Given the description of an element on the screen output the (x, y) to click on. 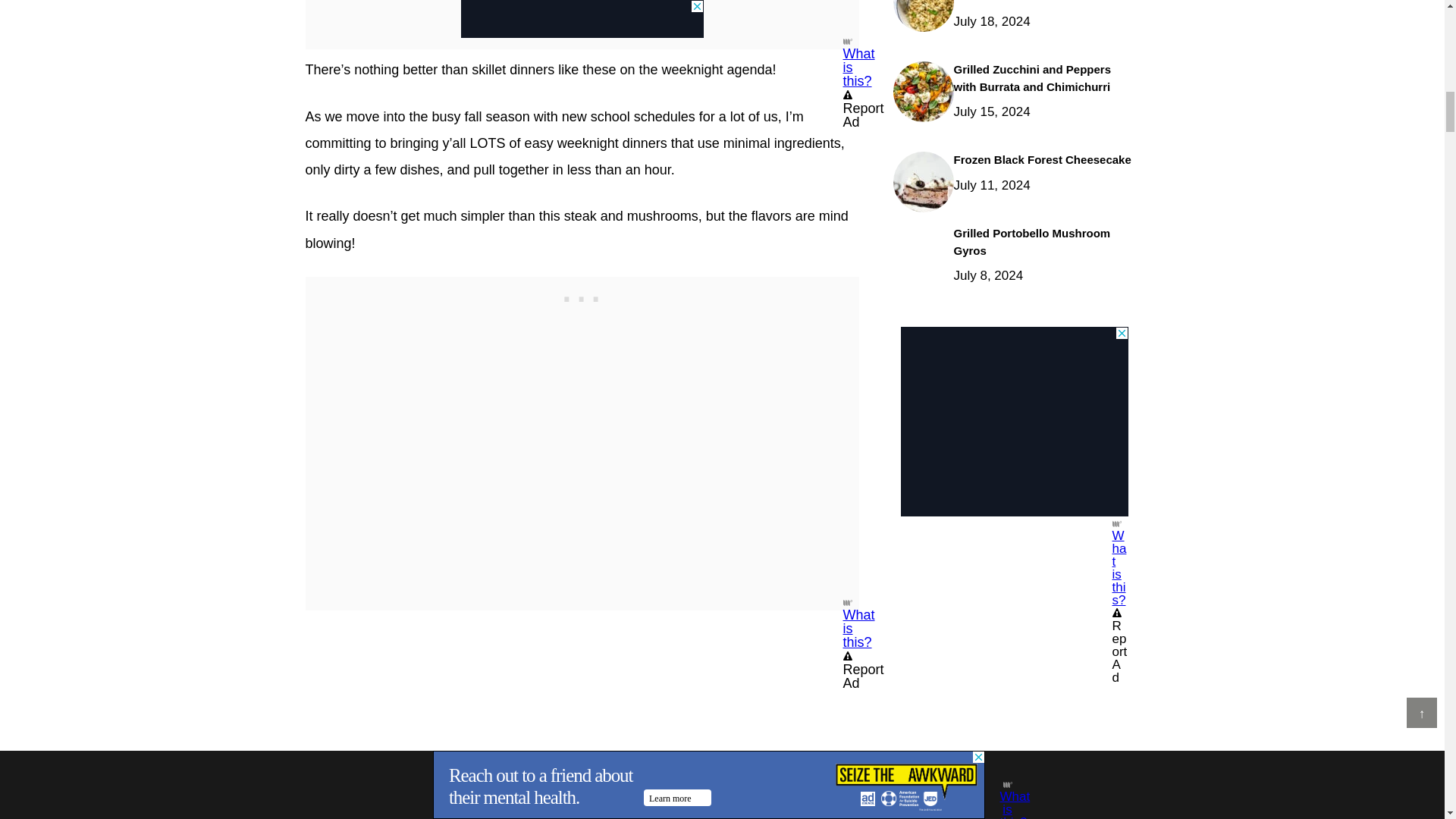
3rd party ad content (1014, 421)
3rd party ad content (582, 295)
